Given the description of an element on the screen output the (x, y) to click on. 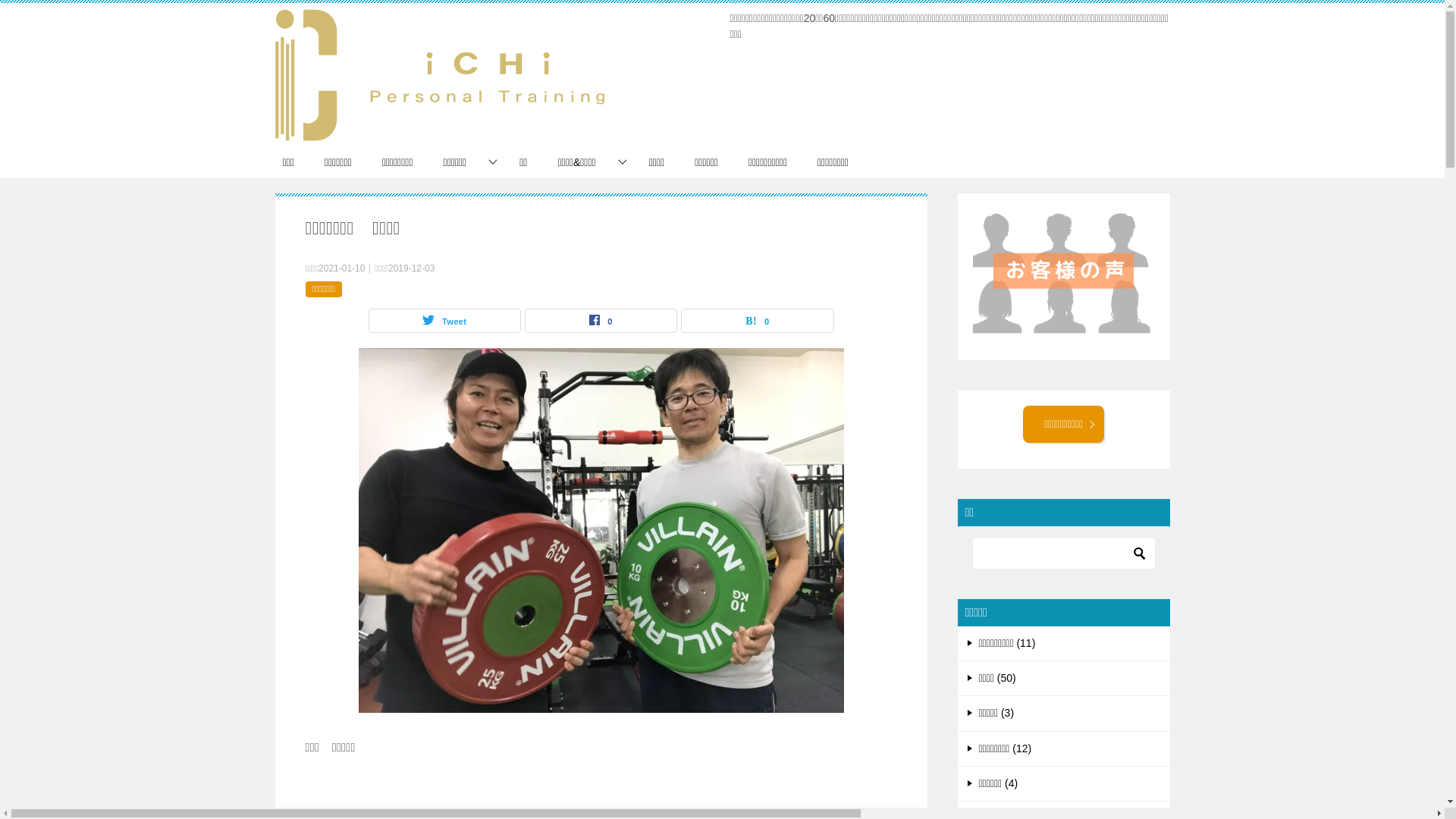
Tweet Element type: text (443, 320)
0 Element type: text (600, 320)
0 Element type: text (756, 320)
